Given the description of an element on the screen output the (x, y) to click on. 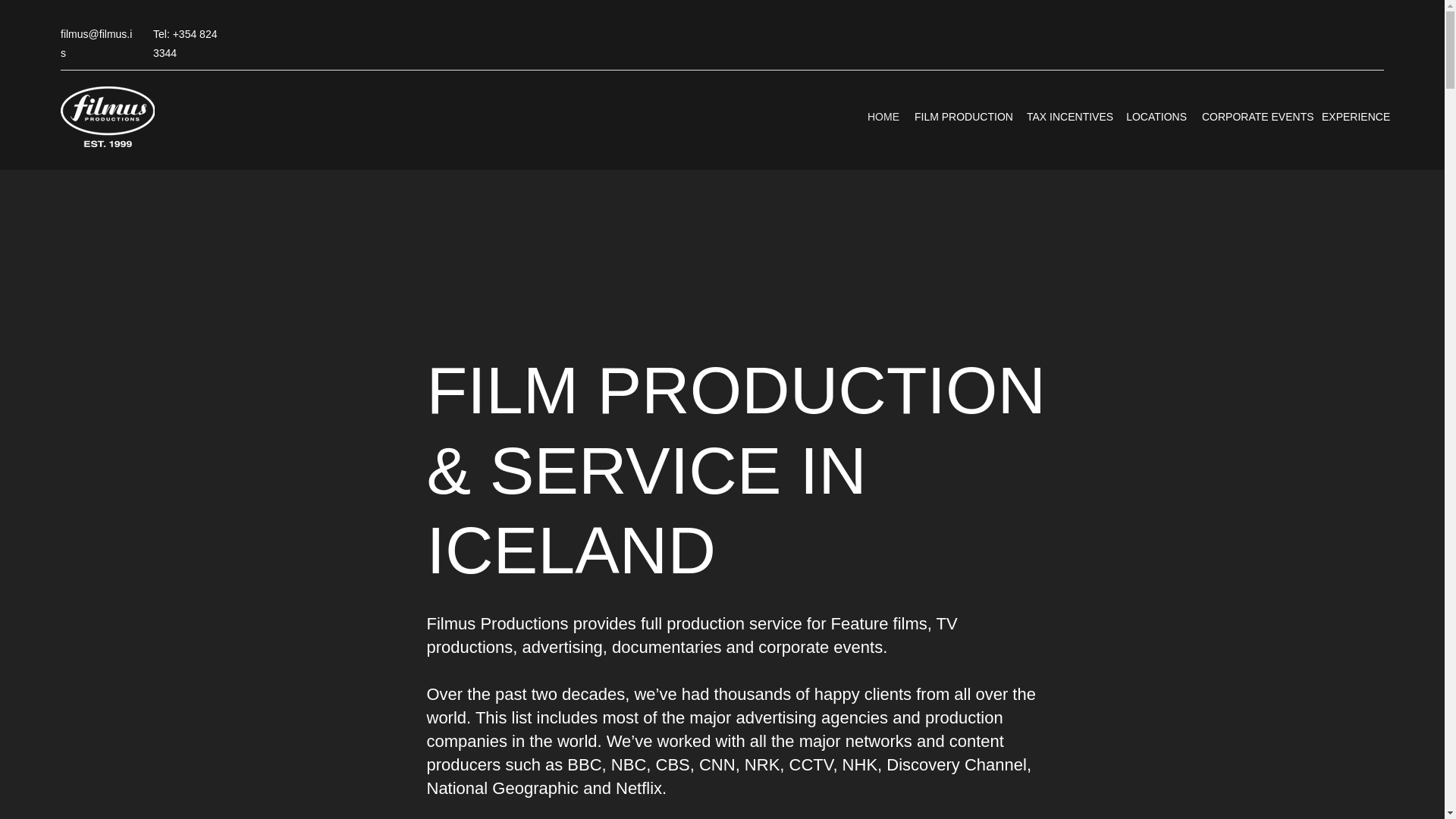
EXPERIENCE (1352, 116)
FILM PRODUCTION (963, 116)
TAX INCENTIVES (1068, 116)
CORPORATE EVENTS (1253, 116)
LOCATIONS (1155, 116)
HOME (883, 116)
